Given the description of an element on the screen output the (x, y) to click on. 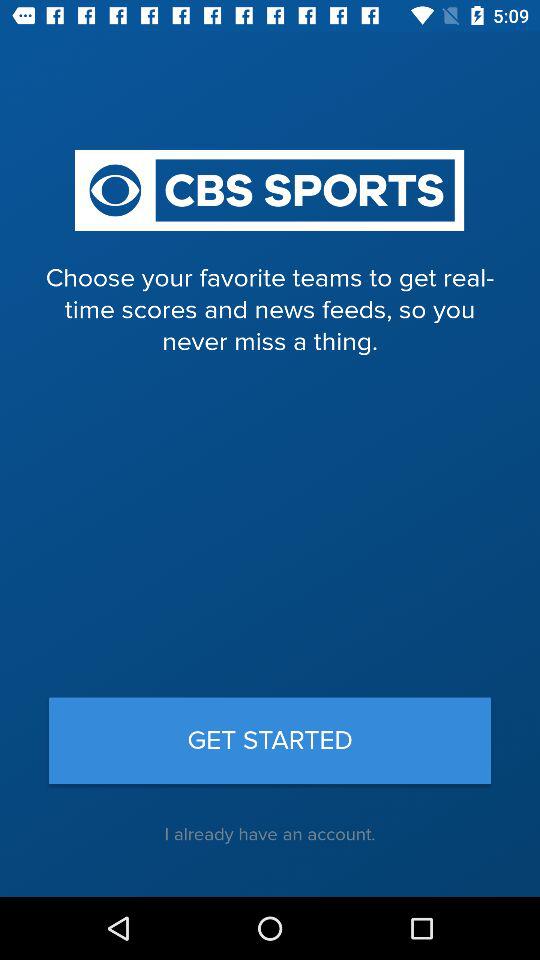
swipe to i already have (269, 834)
